Given the description of an element on the screen output the (x, y) to click on. 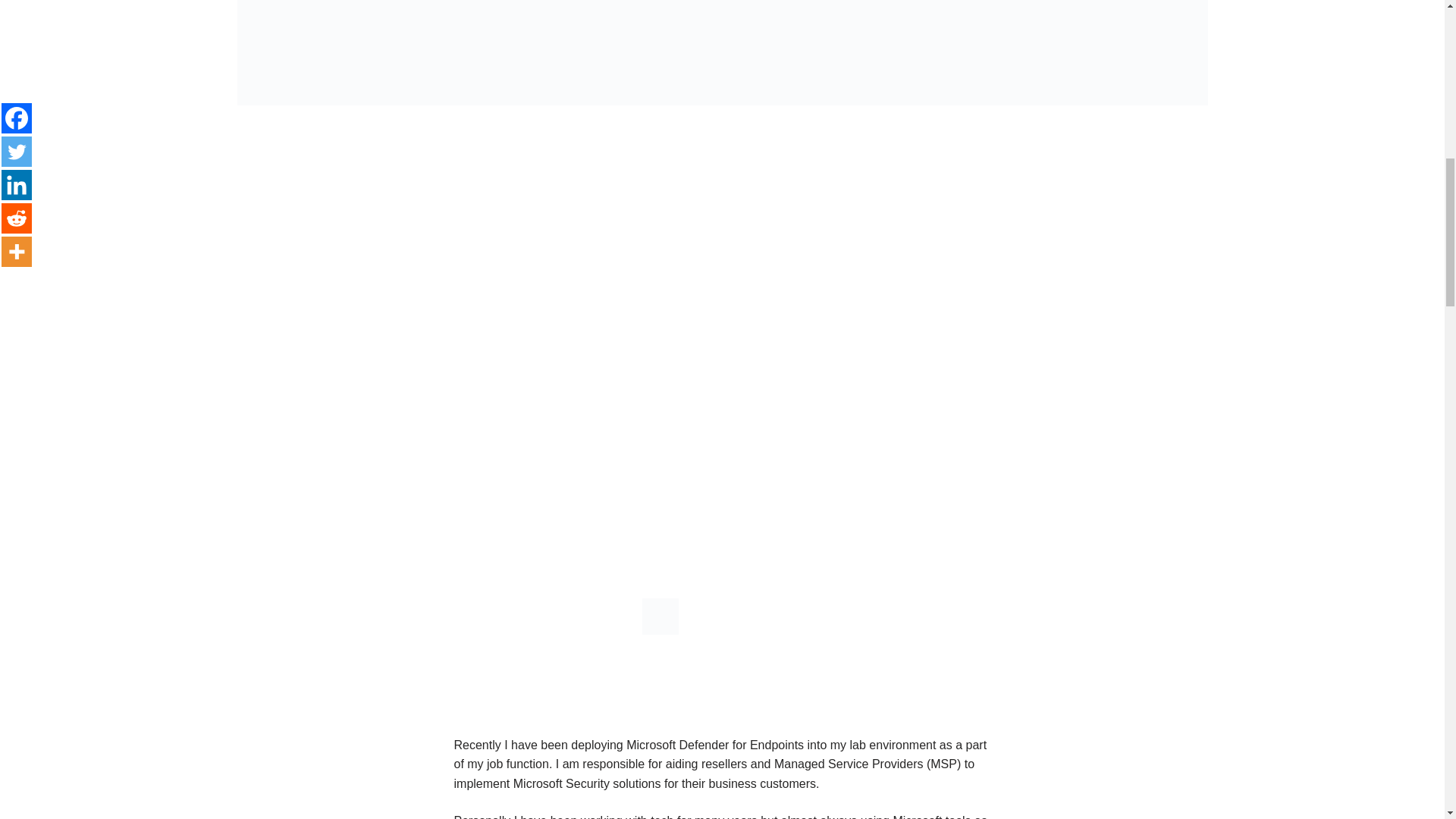
Microsoft Defender for Endpoint (384, 544)
Extended detection and response (632, 544)
Microsoft Defender for Endpoint Server (717, 554)
Extended Detection Response (823, 544)
Articles (505, 544)
Microsoft Defender (972, 544)
